Given the description of an element on the screen output the (x, y) to click on. 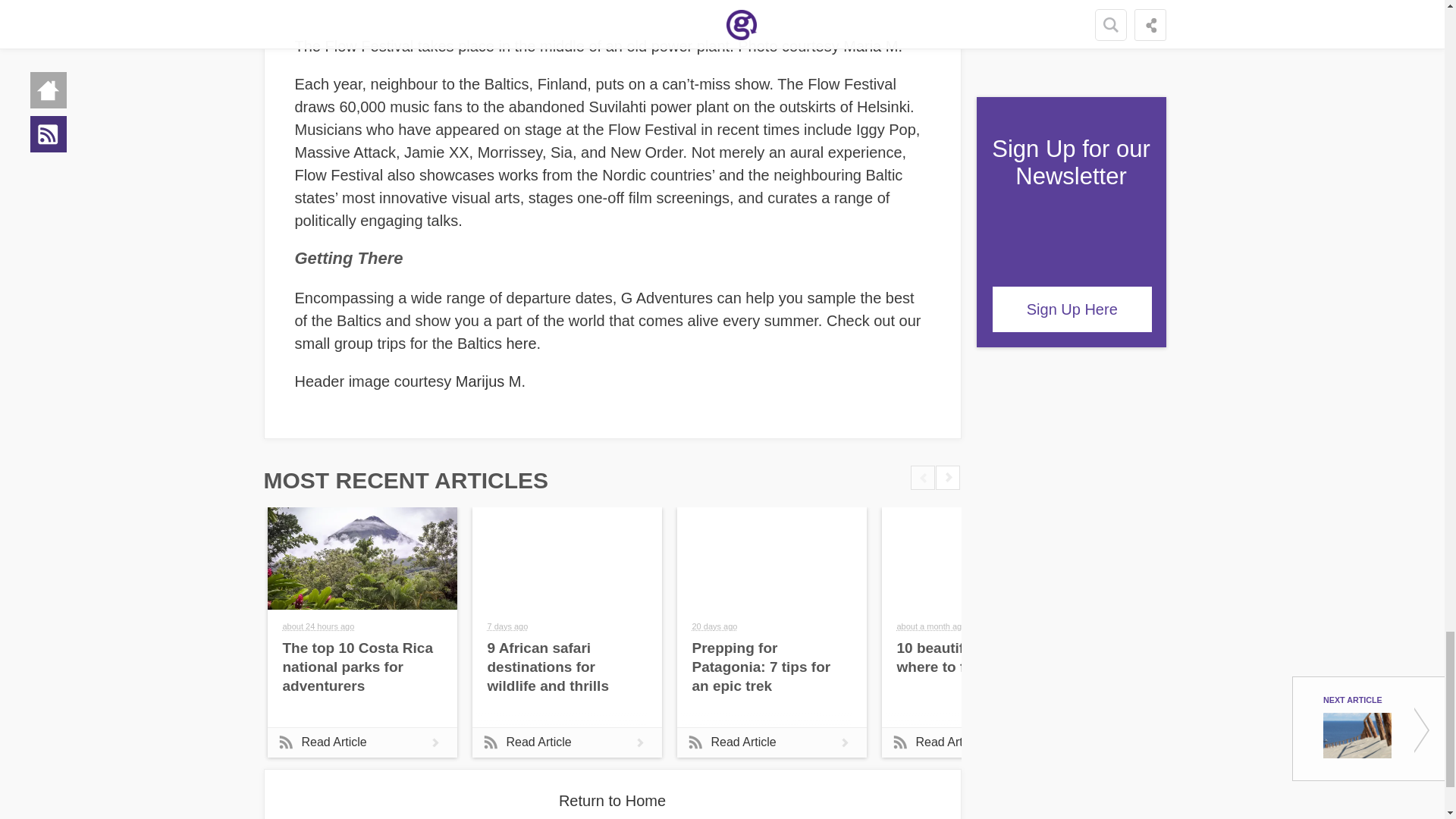
here (521, 343)
Read Article (975, 742)
Read Article (361, 742)
2024-08-05T18:27:00 (506, 625)
Marijus M (488, 381)
Maria M. (872, 45)
Read Article (771, 742)
2024-07-23T14:11:00 (713, 625)
2024-07-10T17:38:00 (931, 625)
Read Article (566, 742)
